Given the description of an element on the screen output the (x, y) to click on. 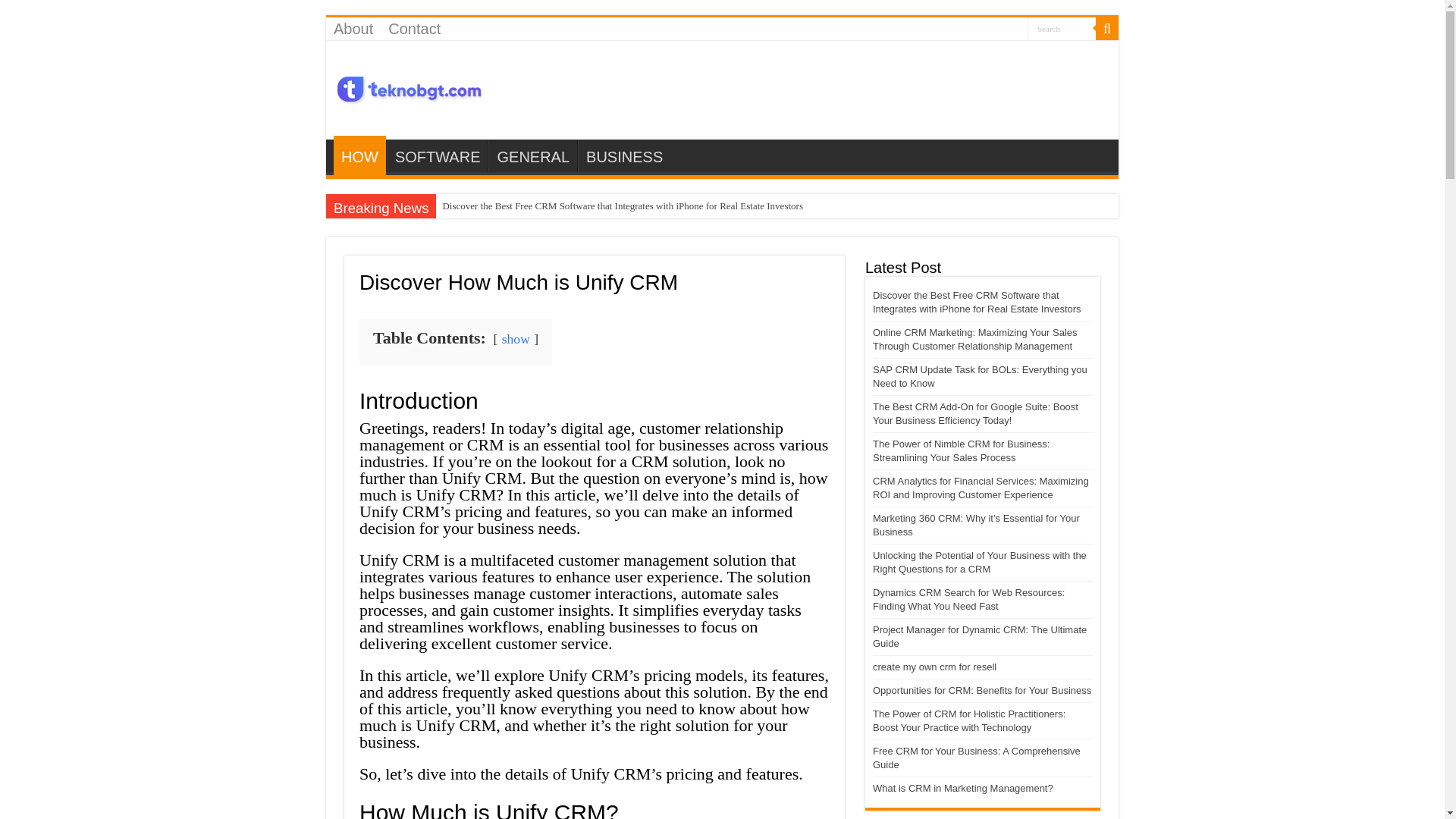
SOFTWARE (437, 155)
Contact (414, 28)
BUSINESS (623, 155)
GENERAL (531, 155)
Search (1061, 28)
CRM Business Tools (409, 85)
About (353, 28)
Search (1061, 28)
show (515, 338)
